Given the description of an element on the screen output the (x, y) to click on. 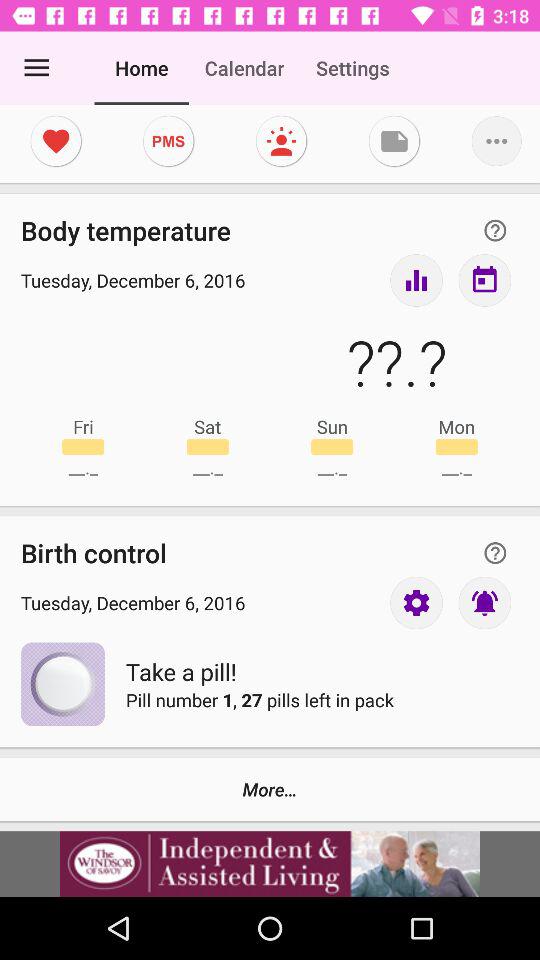
open calendar (484, 280)
